Given the description of an element on the screen output the (x, y) to click on. 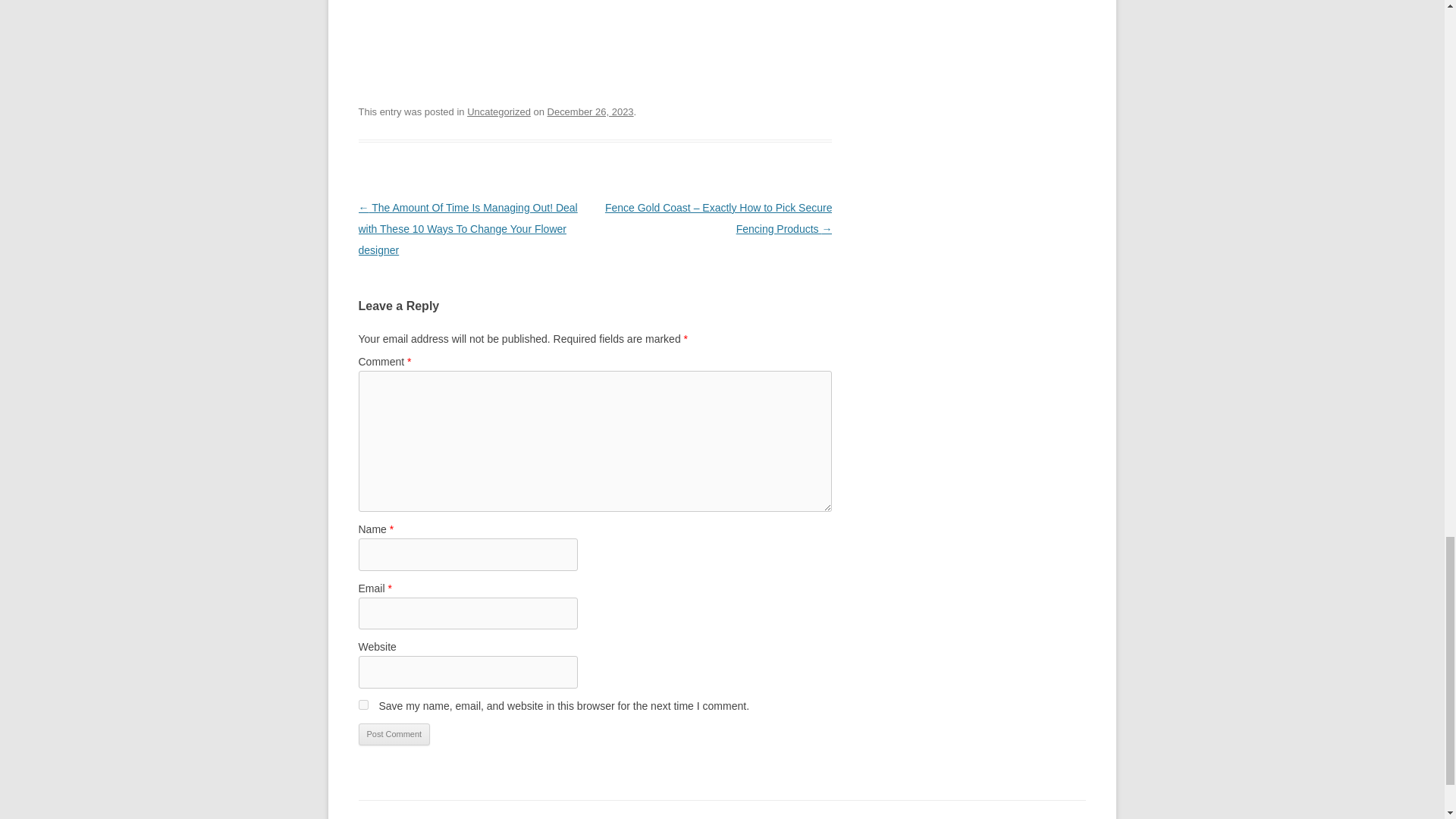
Uncategorized (499, 111)
yes (363, 705)
Post Comment (393, 734)
8:45 pm (590, 111)
December 26, 2023 (590, 111)
Post Comment (393, 734)
